Given the description of an element on the screen output the (x, y) to click on. 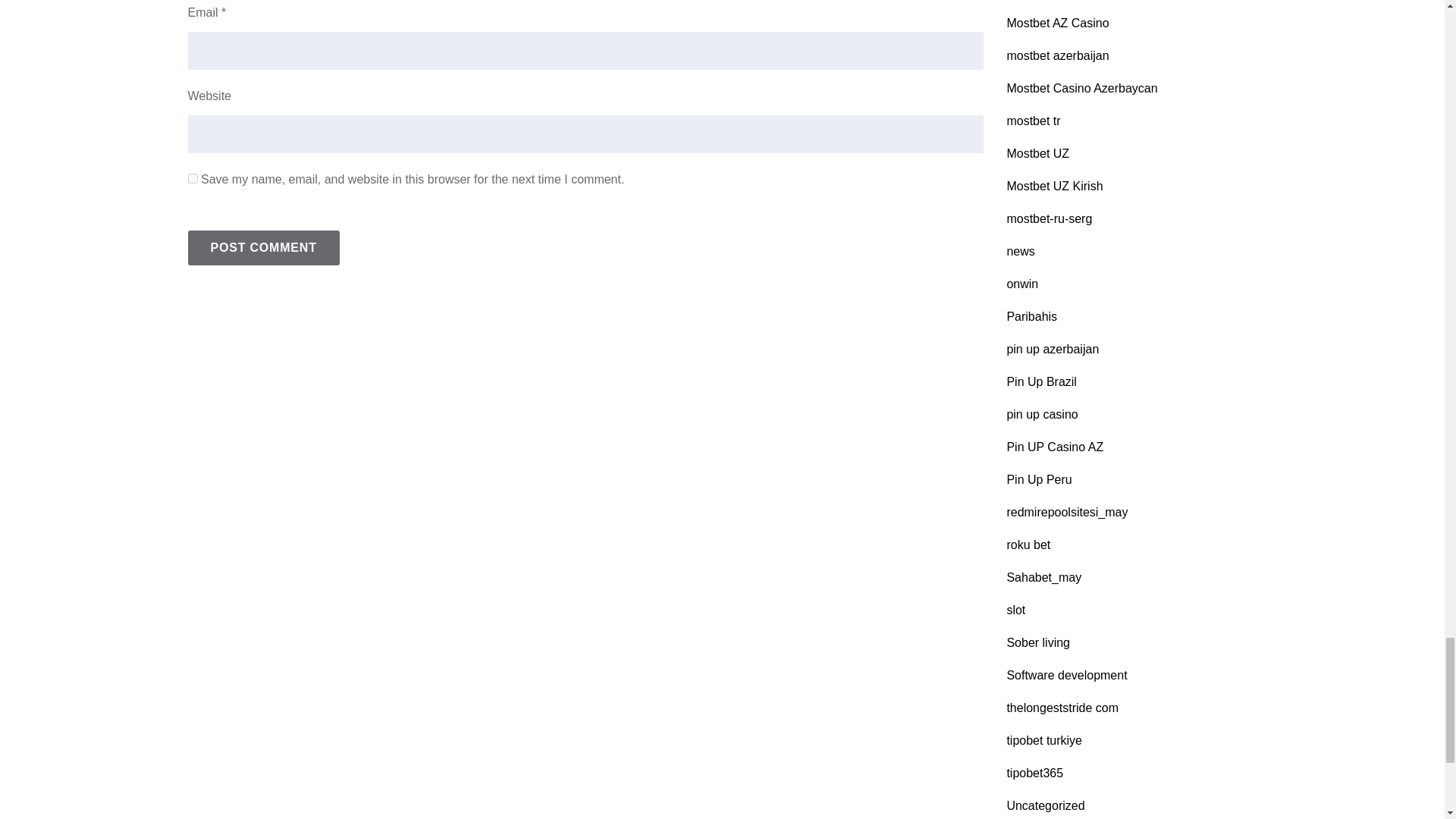
Post Comment (263, 247)
yes (192, 178)
Post Comment (263, 247)
